Given the description of an element on the screen output the (x, y) to click on. 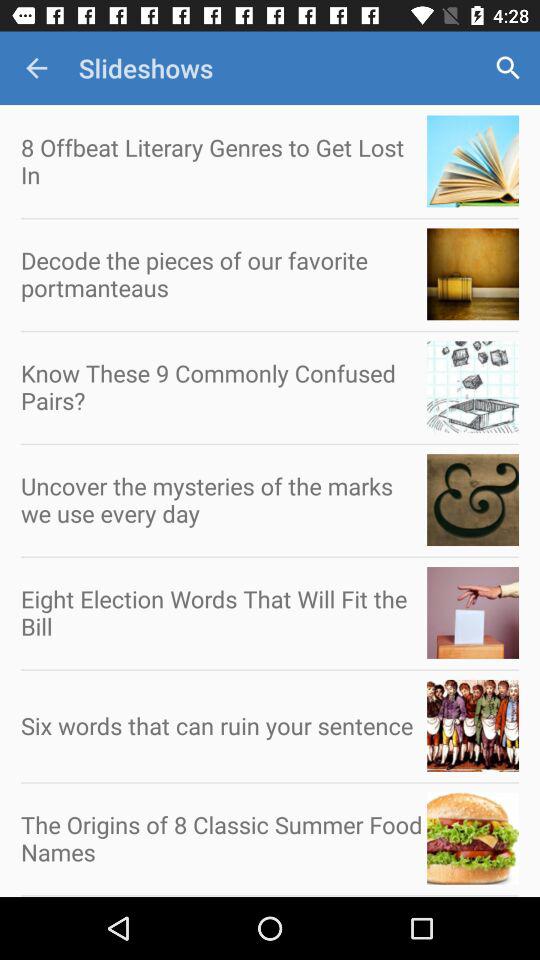
select app next to the slideshows app (508, 67)
